Given the description of an element on the screen output the (x, y) to click on. 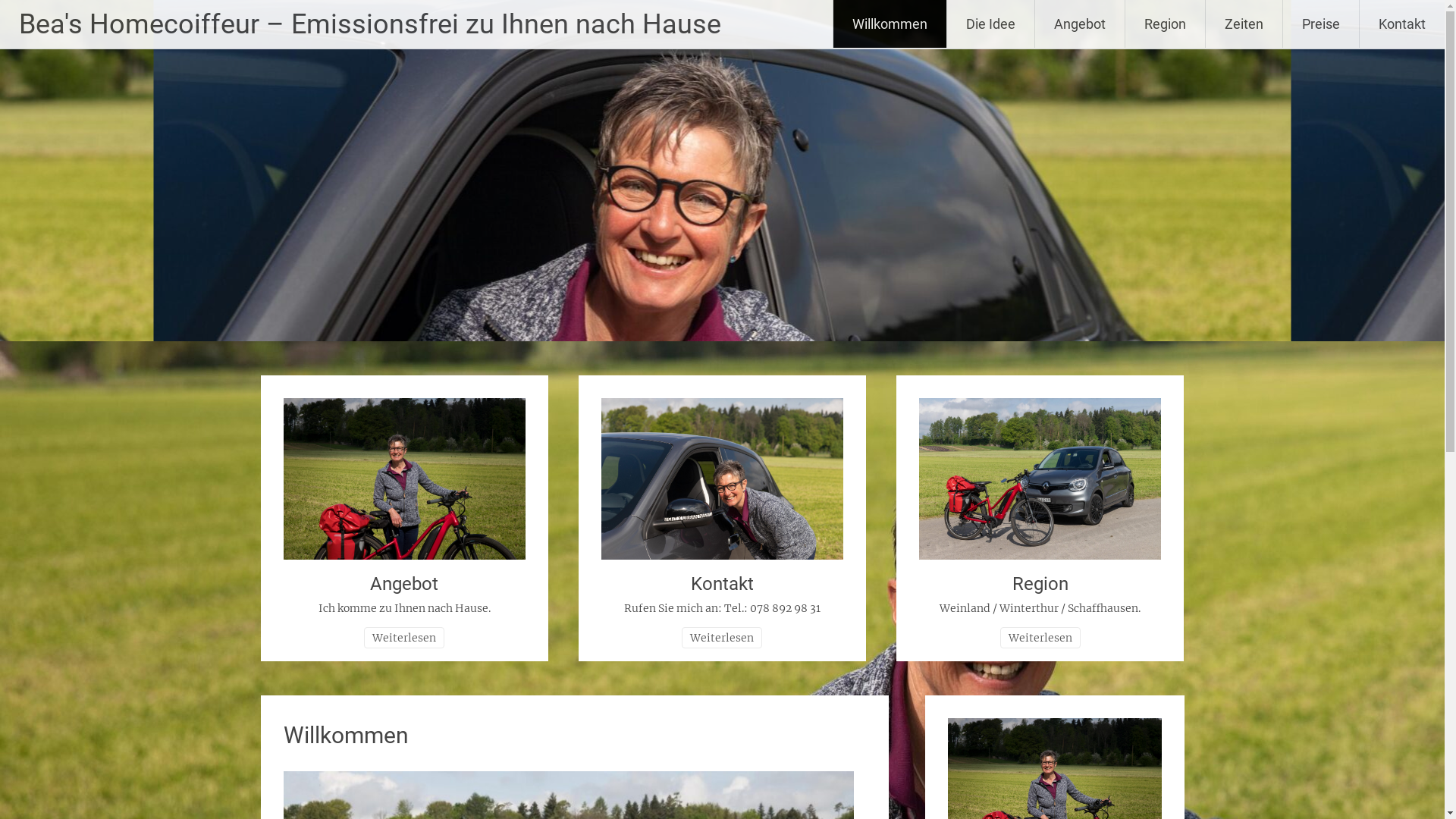
Angebot Element type: text (1079, 23)
Weiterlesen Element type: text (1040, 637)
Kontakt Element type: text (721, 583)
Willkommen Element type: text (889, 23)
Weiterlesen Element type: text (721, 637)
Willkommen Element type: text (345, 734)
Kontakt Element type: text (1401, 23)
Preise Element type: text (1320, 23)
Angebot Element type: text (404, 583)
Weiterlesen Element type: text (404, 637)
Die Idee Element type: text (990, 23)
Region Element type: text (1040, 583)
Region Element type: text (1164, 23)
Zeiten Element type: text (1243, 23)
